Given the description of an element on the screen output the (x, y) to click on. 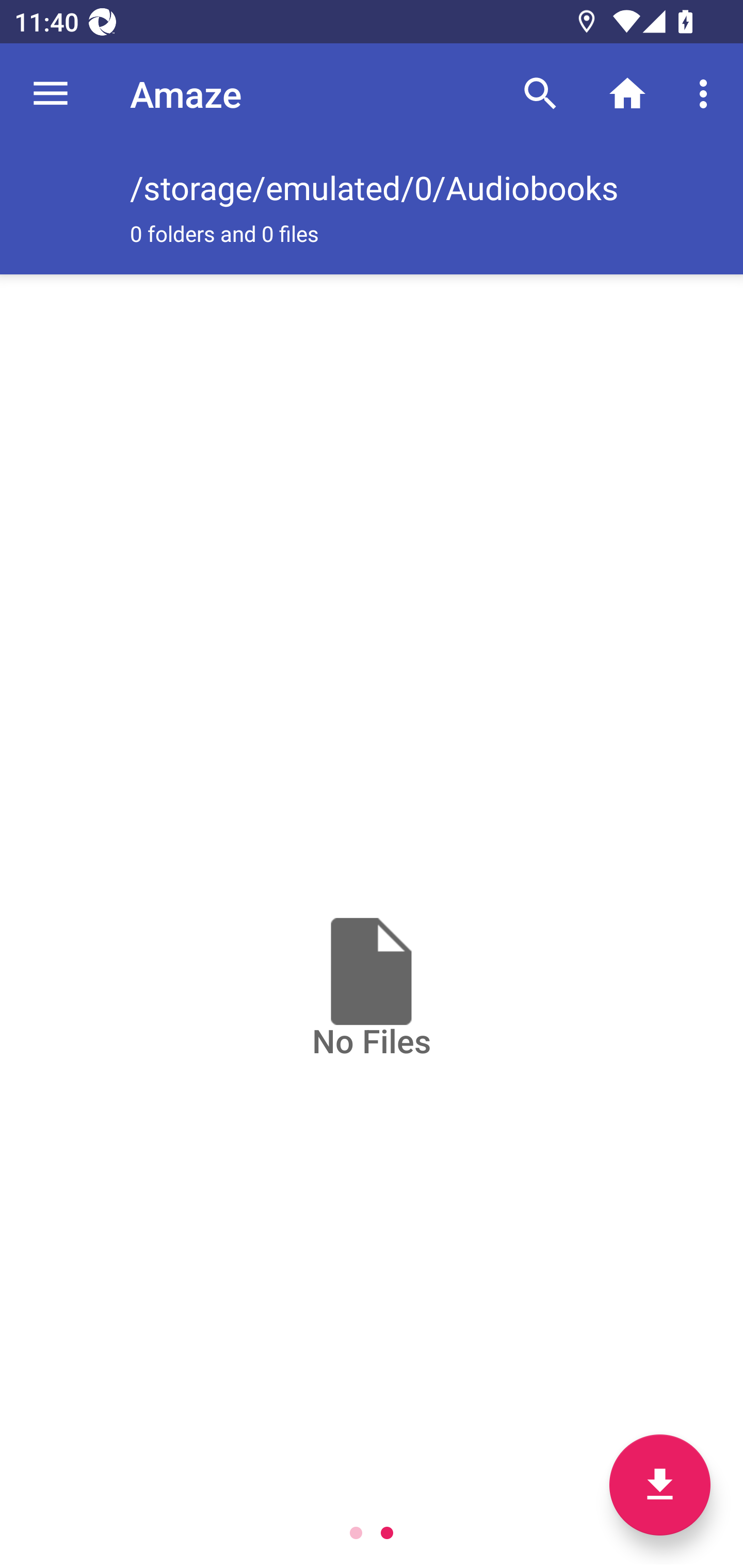
Navigate up (50, 93)
Search (540, 93)
Home (626, 93)
More options (706, 93)
